Given the description of an element on the screen output the (x, y) to click on. 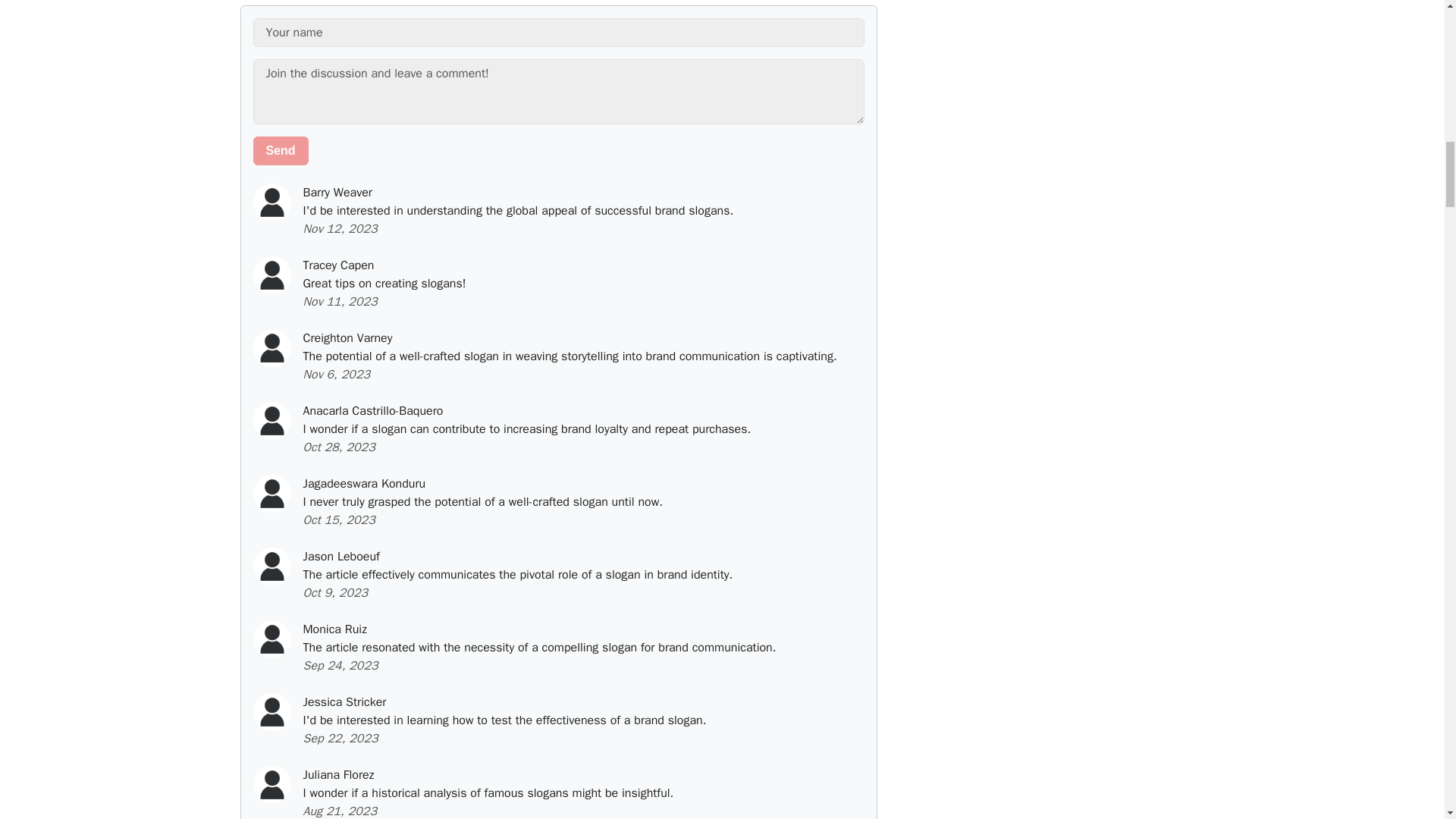
Send (280, 150)
Send (280, 150)
